Given the description of an element on the screen output the (x, y) to click on. 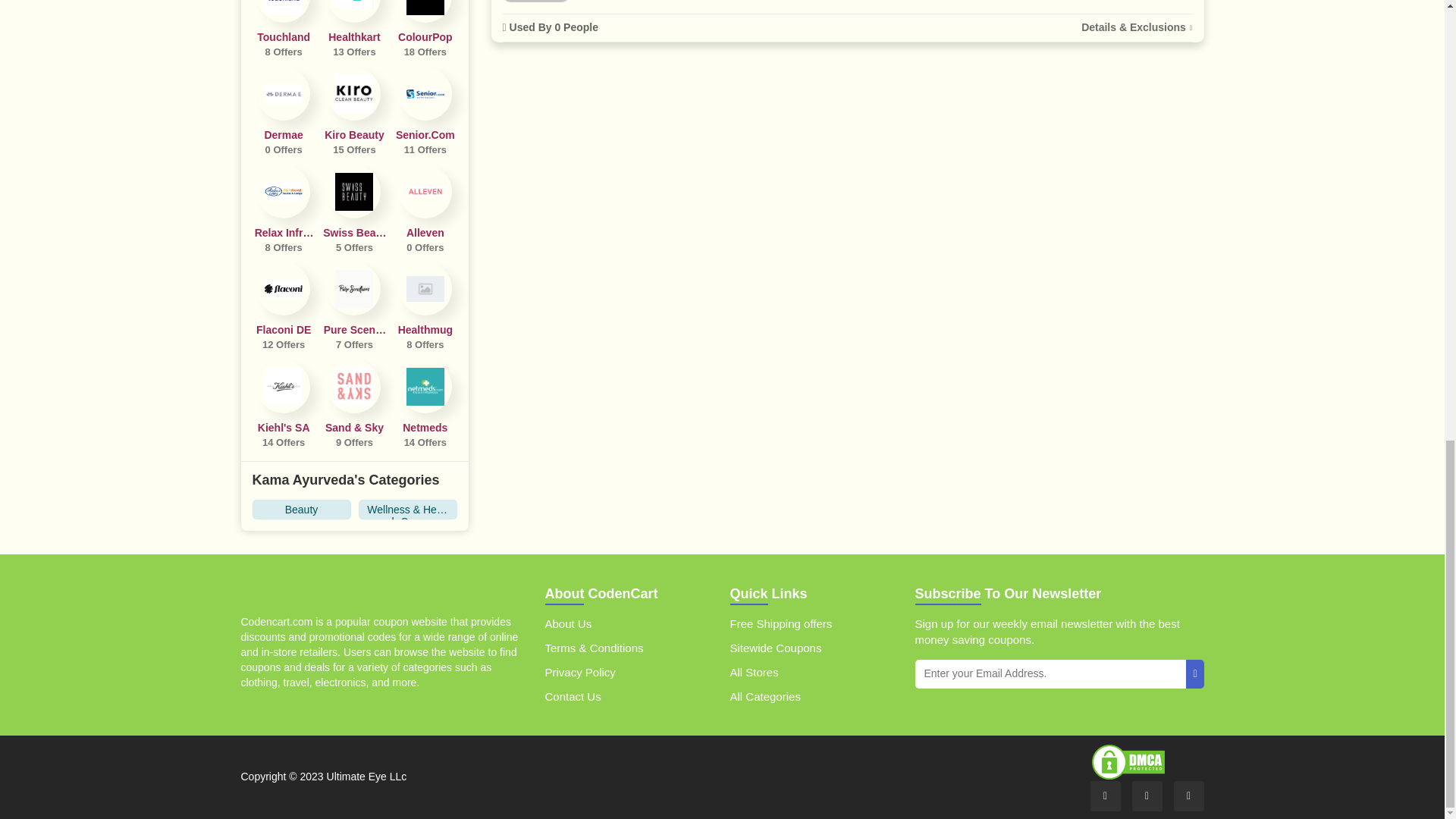
Beauty (282, 29)
DMCA.com Protection Status (354, 29)
